Given the description of an element on the screen output the (x, y) to click on. 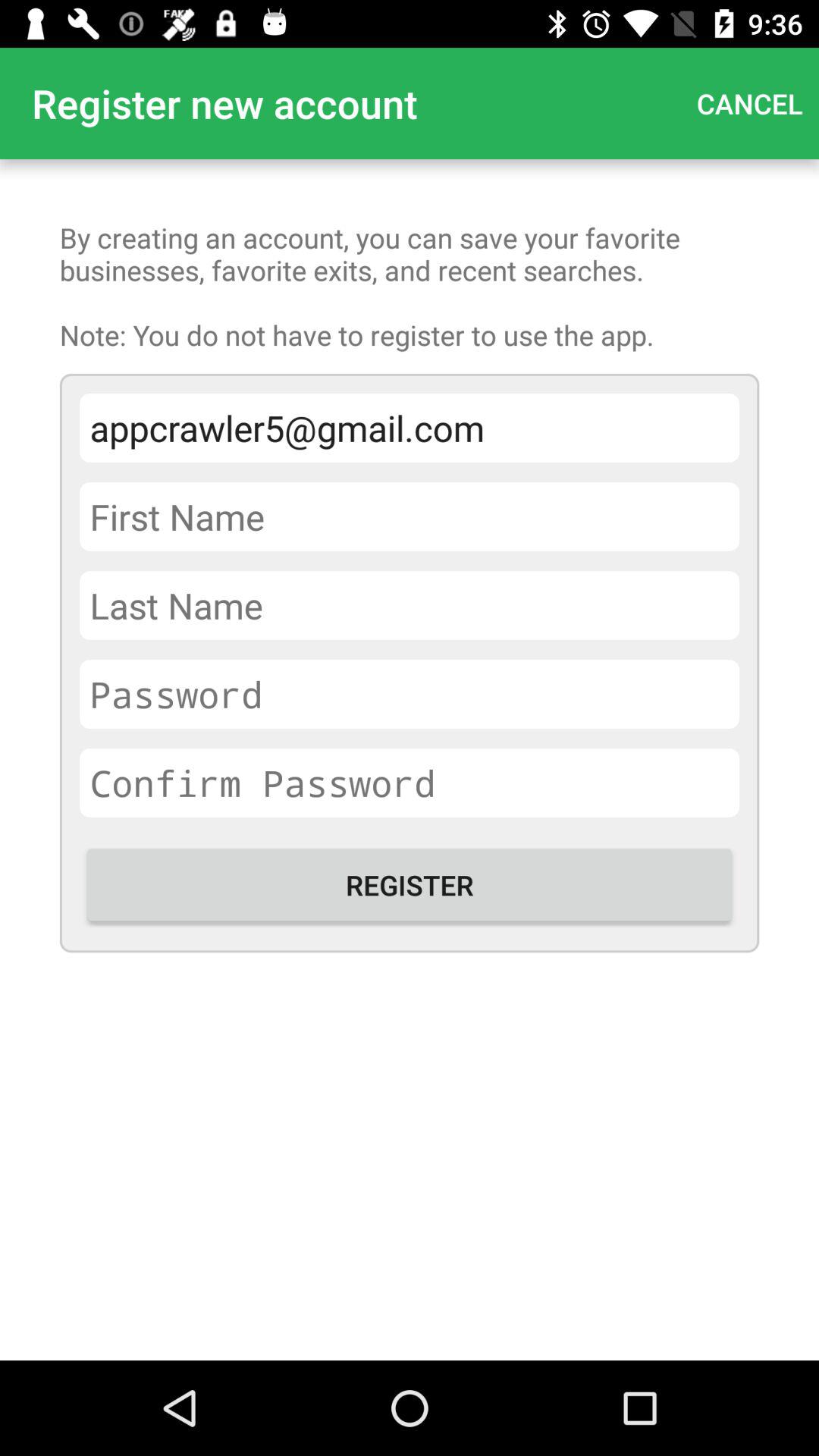
choose the app next to the register new account app (749, 103)
